Given the description of an element on the screen output the (x, y) to click on. 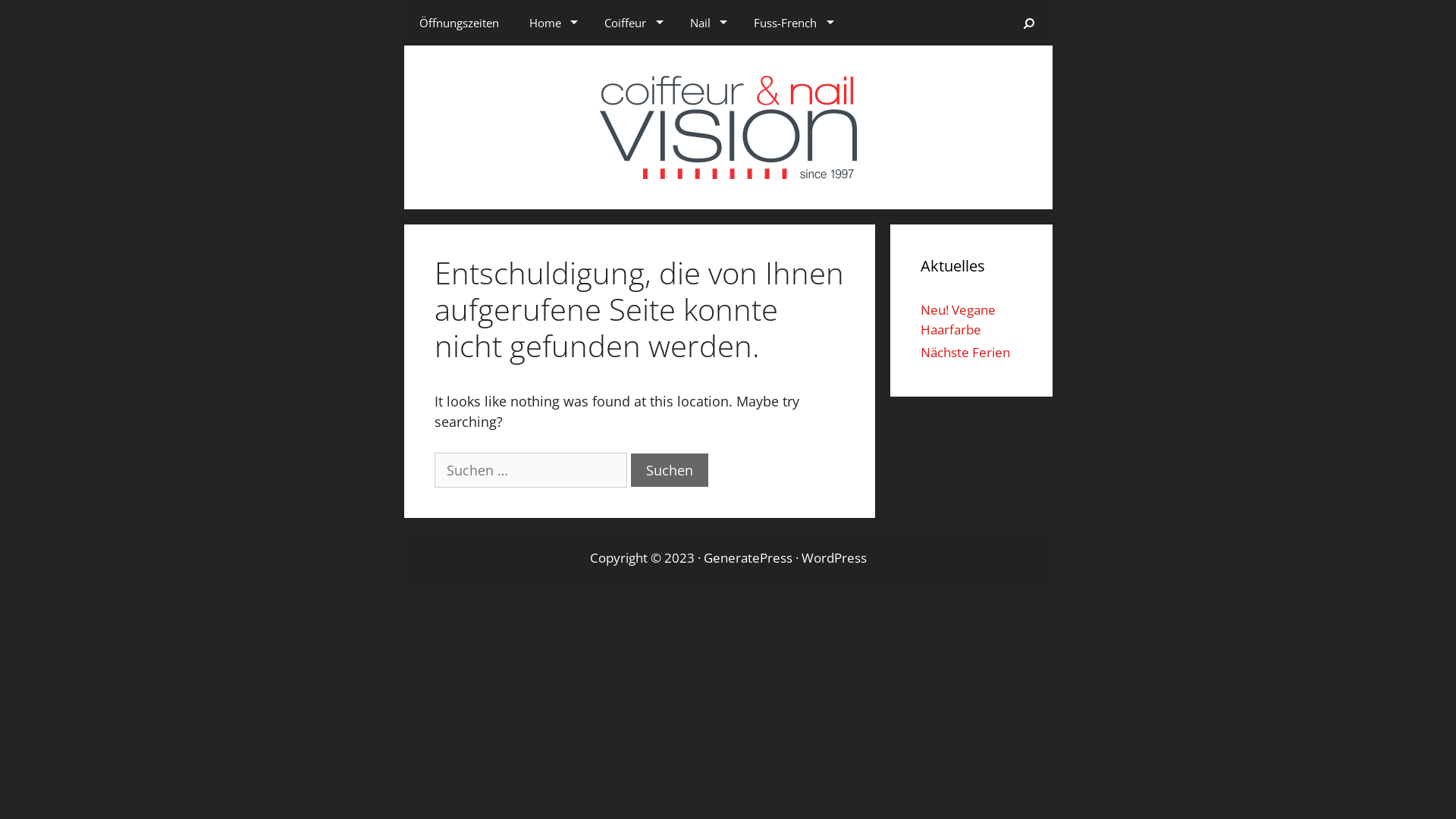
Suchen Element type: hover (1029, 22)
Neu! Vegane Haarfarbe Element type: text (957, 319)
GeneratePress Element type: text (747, 557)
Coiffeur-Nail-Vision Element type: hover (727, 126)
Zum Inhalt Element type: text (34, 55)
Nail Element type: text (706, 22)
Coiffeur-Nail-Vision Element type: hover (727, 125)
Coiffeur Element type: text (631, 22)
Fuss-French Element type: text (791, 22)
WordPress Element type: text (833, 557)
Suchen Element type: text (669, 469)
Home Element type: text (551, 22)
Suchen: Element type: hover (529, 469)
